Given the description of an element on the screen output the (x, y) to click on. 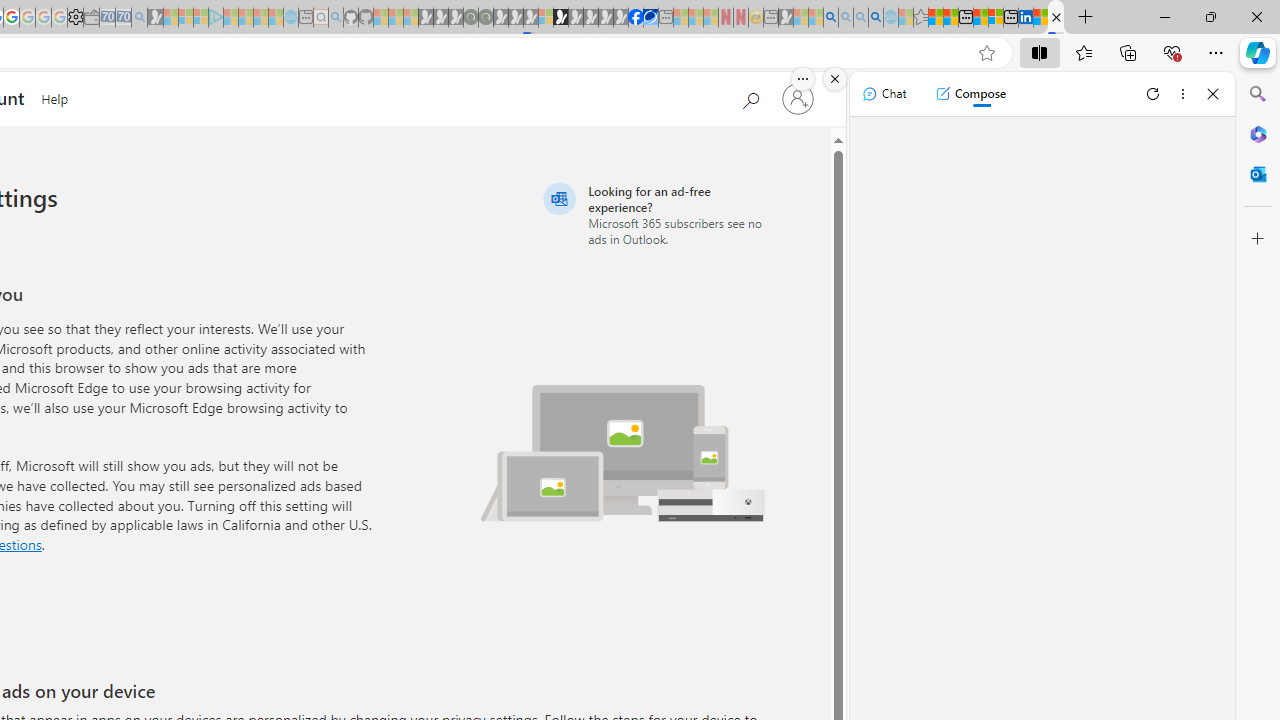
Nordace | Facebook (635, 17)
Bing Real Estate - Home sales and rental listings - Sleeping (139, 17)
